Given the description of an element on the screen output the (x, y) to click on. 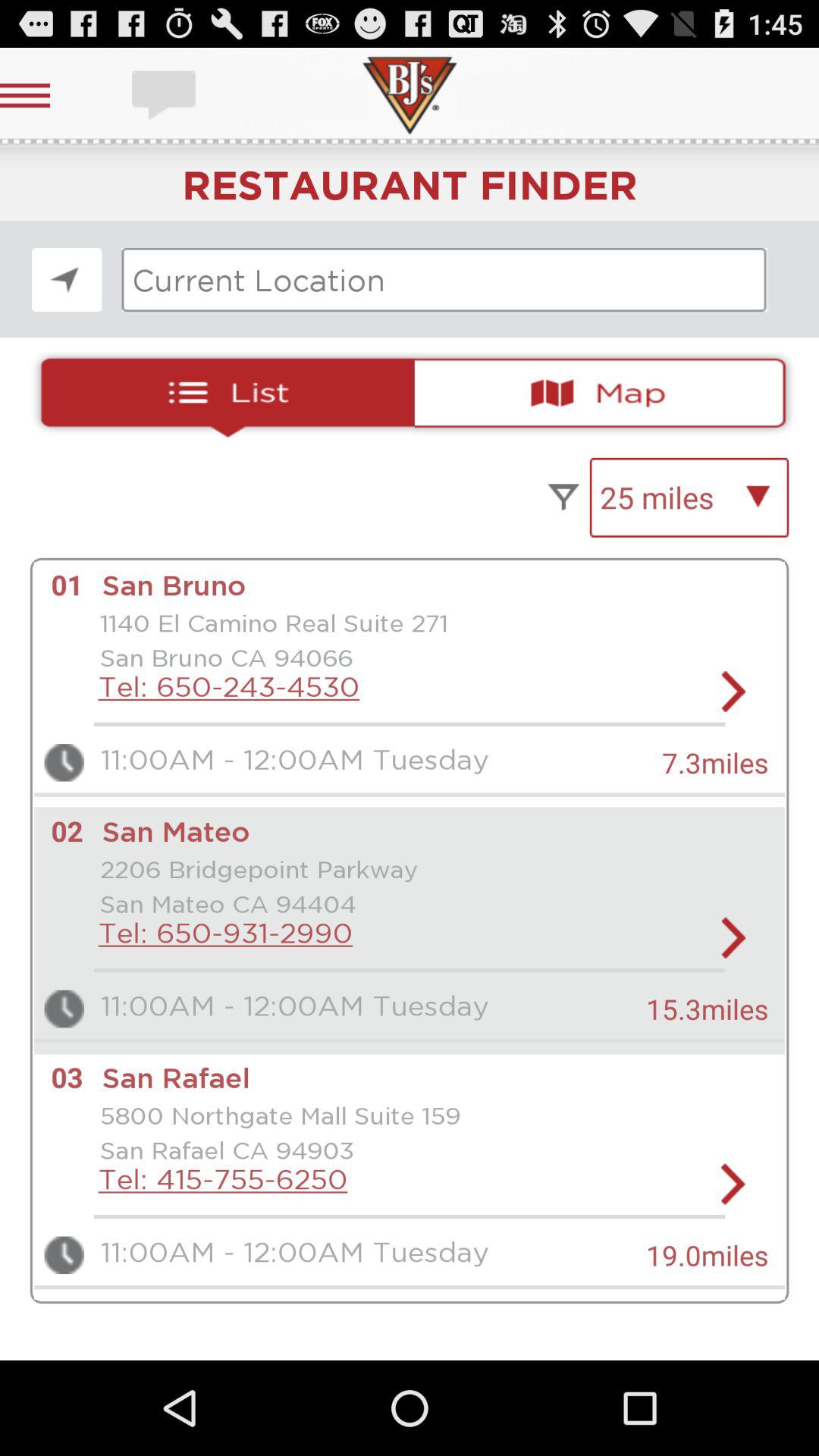
message button (165, 95)
